Given the description of an element on the screen output the (x, y) to click on. 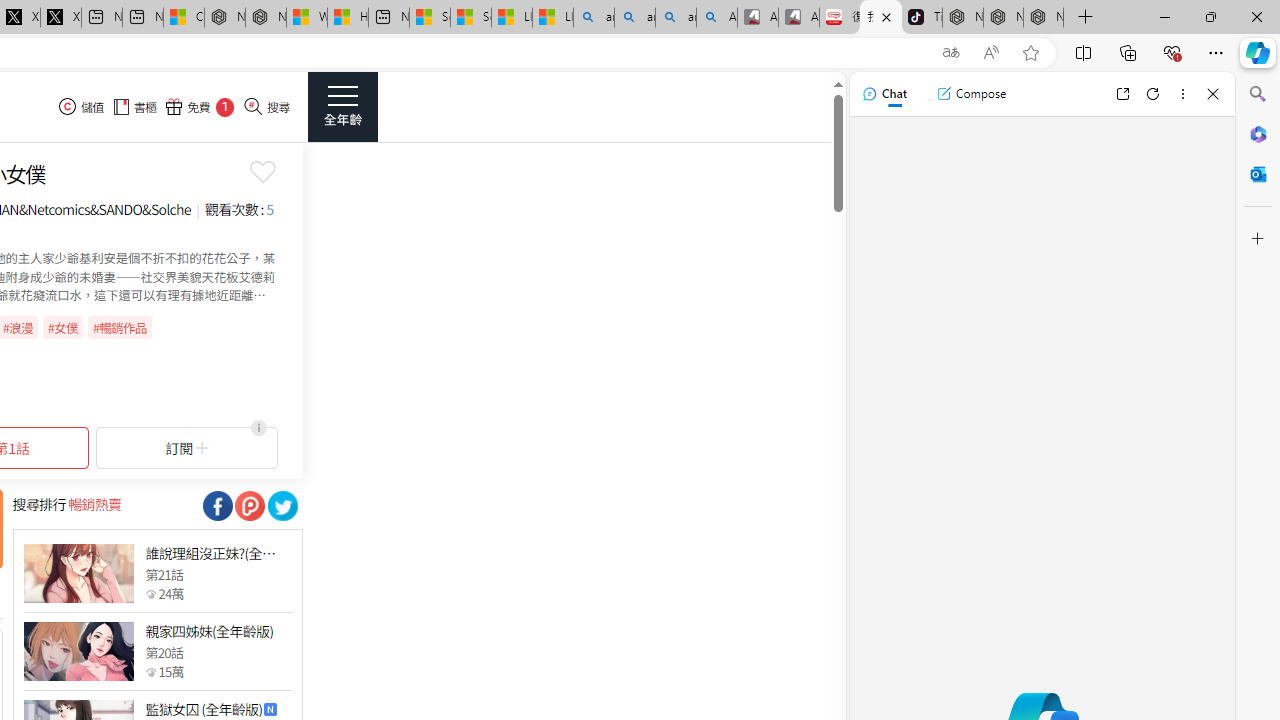
Nordace - Summer Adventures 2024 (265, 17)
All Cubot phones (799, 17)
Class: epicon_starpoint (150, 671)
Nordace Siena Pro 15 Backpack (1003, 17)
Class: thumb_img (78, 651)
Chat (884, 93)
Huge shark washes ashore at New York City beach | Watch (347, 17)
Class: socialShare (282, 506)
Compose (971, 93)
